Given the description of an element on the screen output the (x, y) to click on. 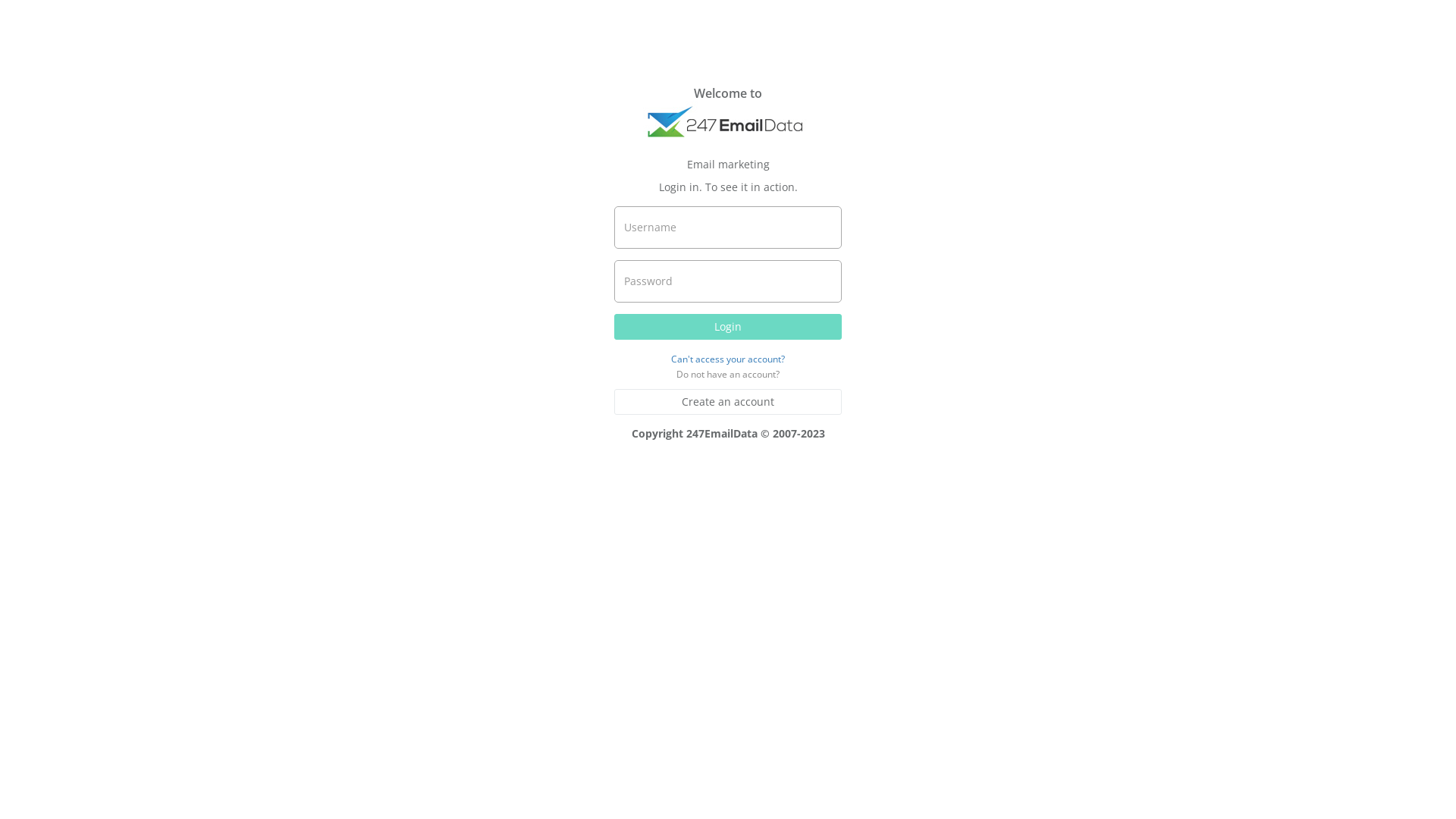
Create an account Element type: text (727, 401)
Can't access your account? Element type: text (727, 358)
Login Element type: text (727, 326)
